Given the description of an element on the screen output the (x, y) to click on. 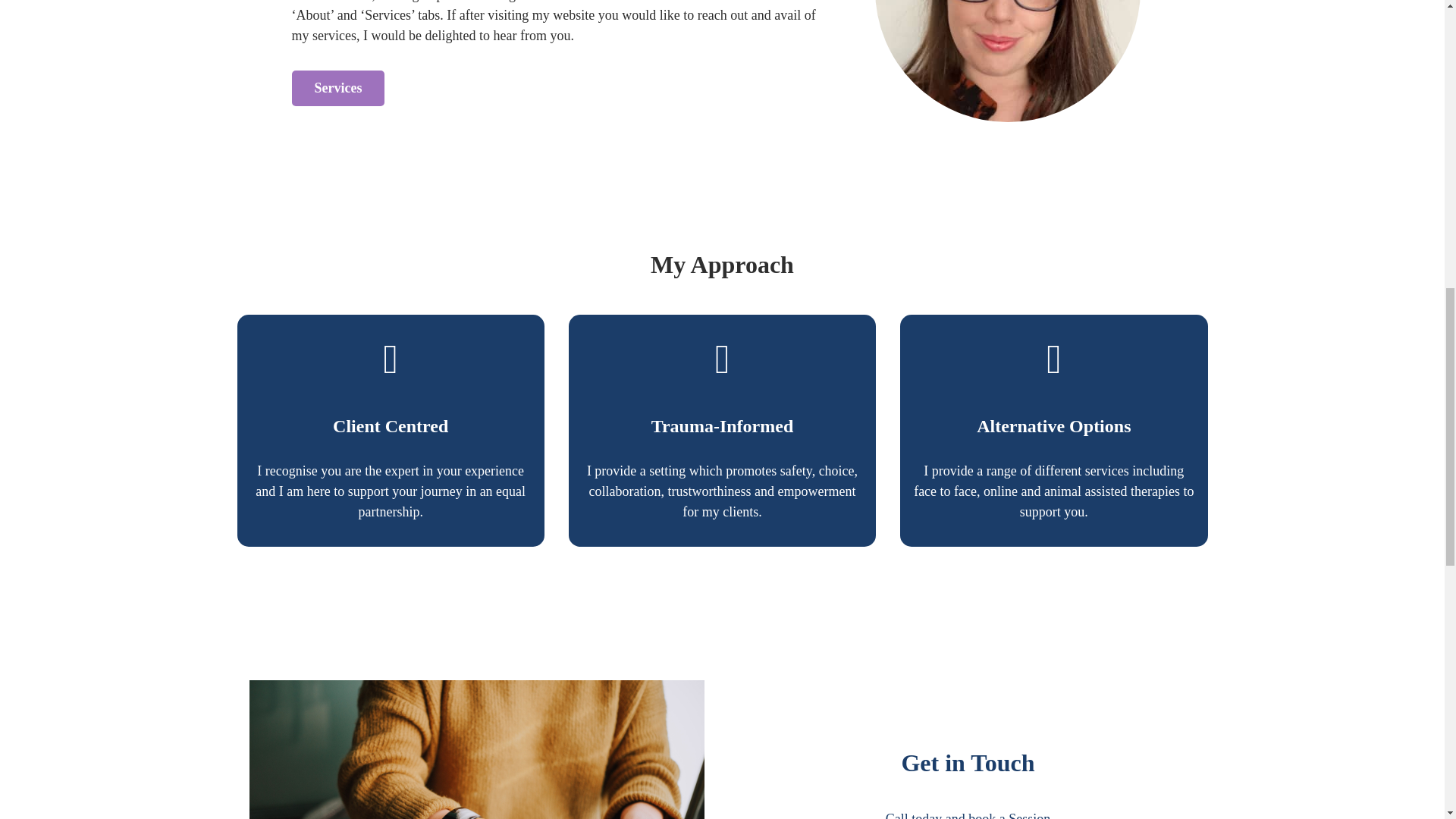
Services (337, 88)
